Given the description of an element on the screen output the (x, y) to click on. 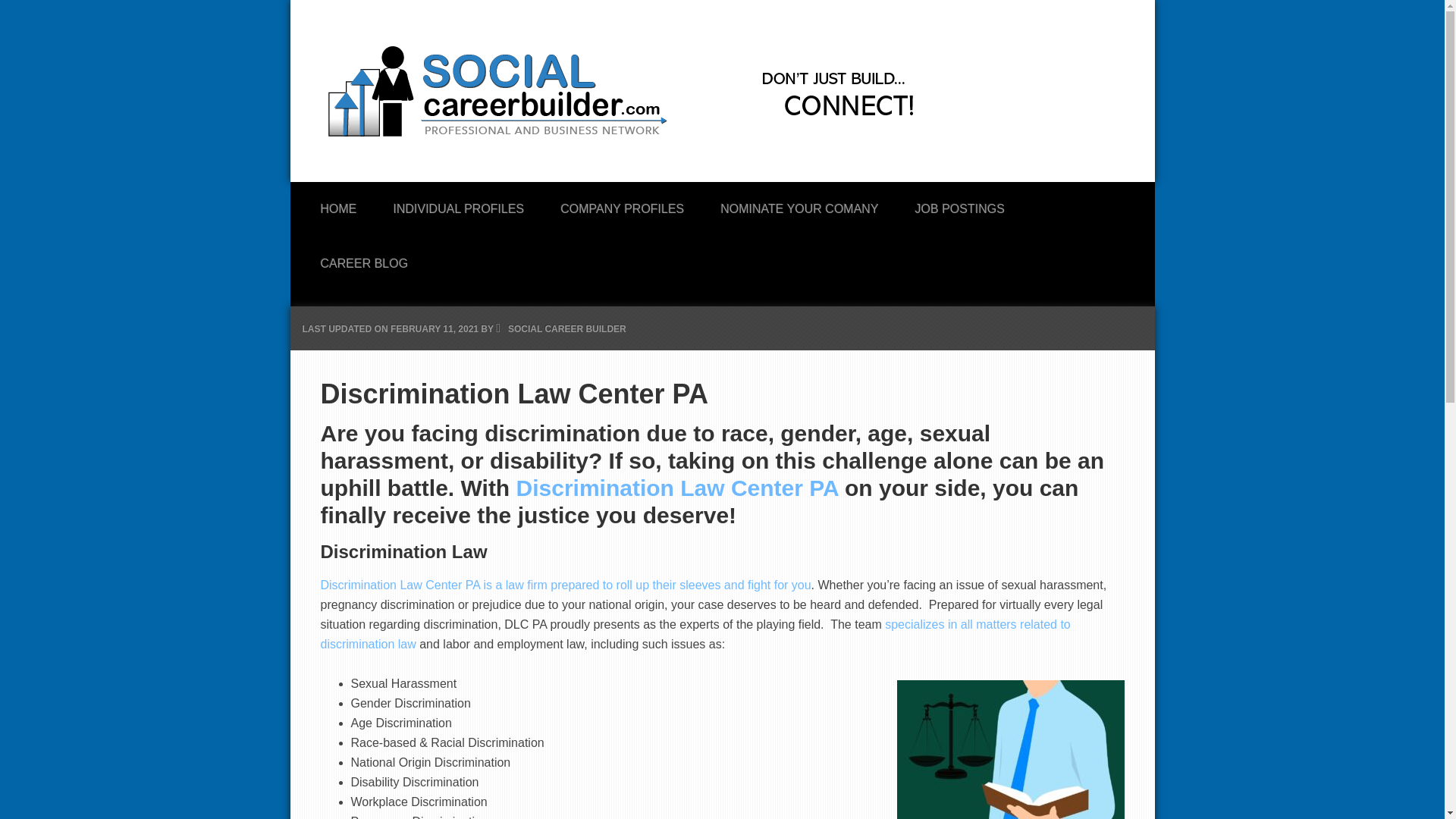
NOMINATE YOUR COMANY (798, 204)
COMPANY PROFILES (621, 204)
CAREER BLOG (363, 259)
JOB POSTINGS (959, 204)
HOME (337, 204)
specializes in all matters related to discrimination law (695, 634)
INDIVIDUAL PROFILES (457, 204)
SOCIAL CAREER BUILDER (567, 328)
